Given the description of an element on the screen output the (x, y) to click on. 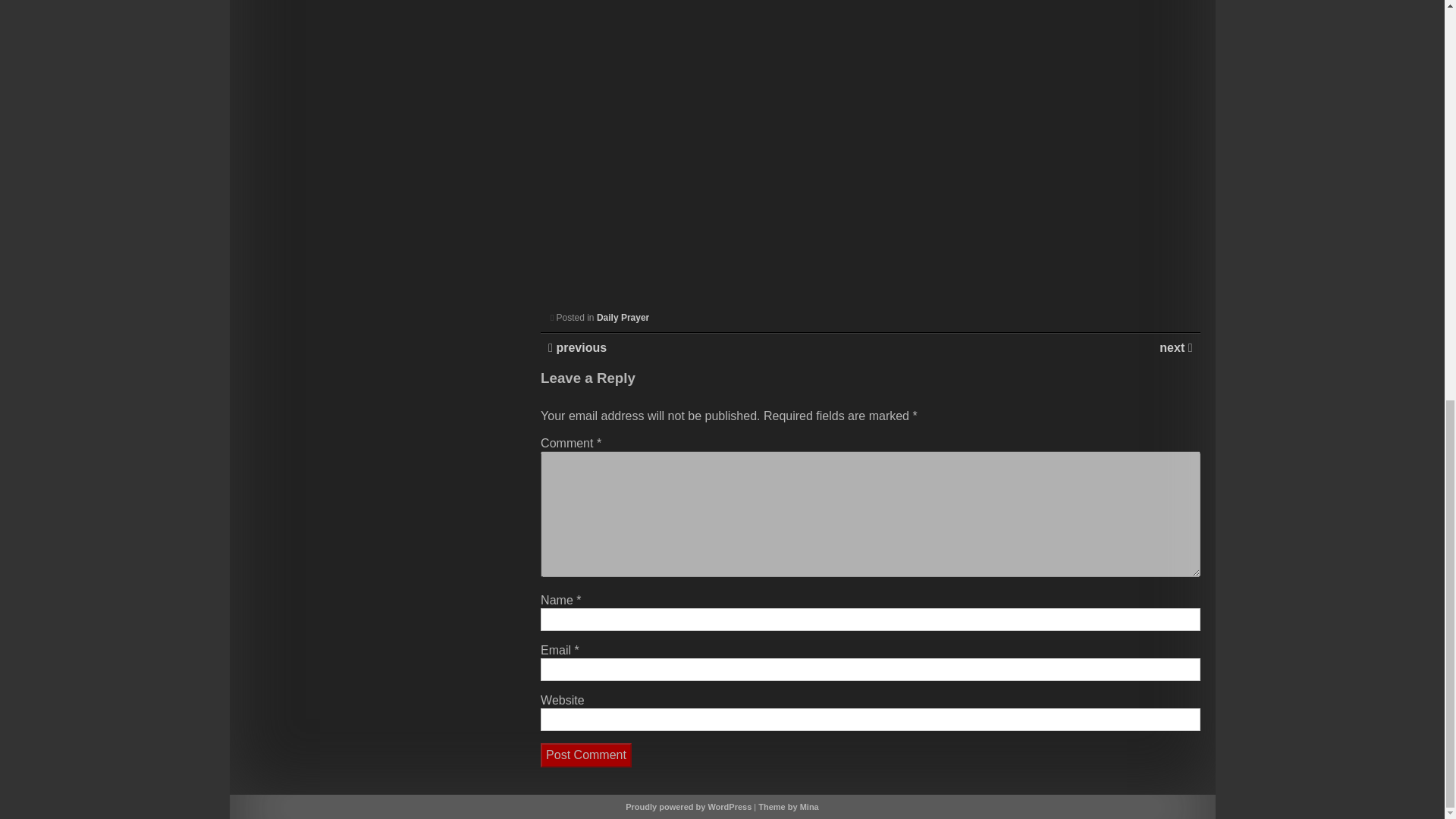
Proudly powered by WordPress (688, 806)
Post Comment (585, 754)
Wordpress theme (788, 806)
Theme by Mina (788, 806)
next (1173, 347)
previous (580, 347)
Daily Prayer (622, 317)
Post Comment (585, 754)
